Given the description of an element on the screen output the (x, y) to click on. 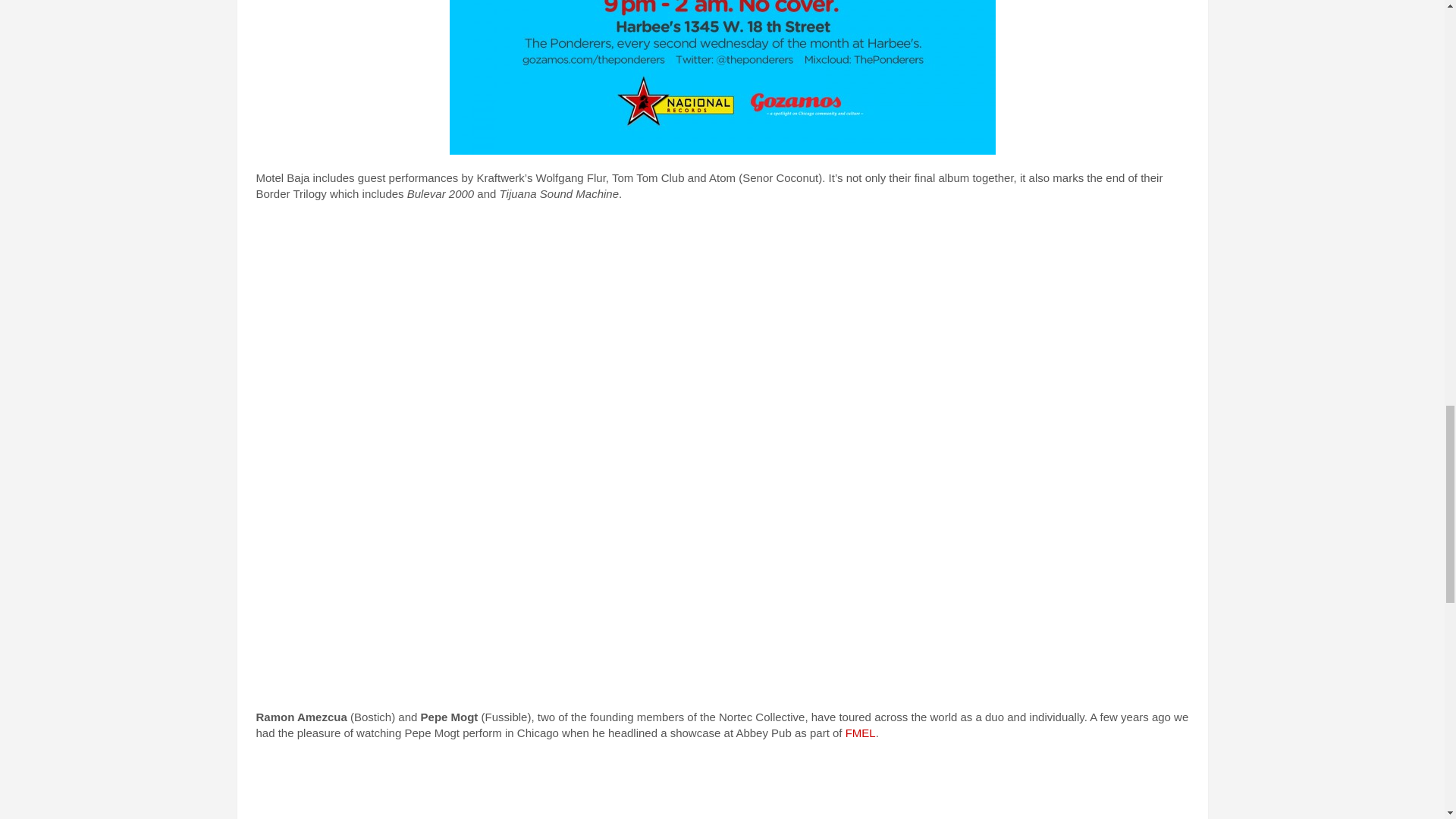
FMEL (860, 732)
